Given the description of an element on the screen output the (x, y) to click on. 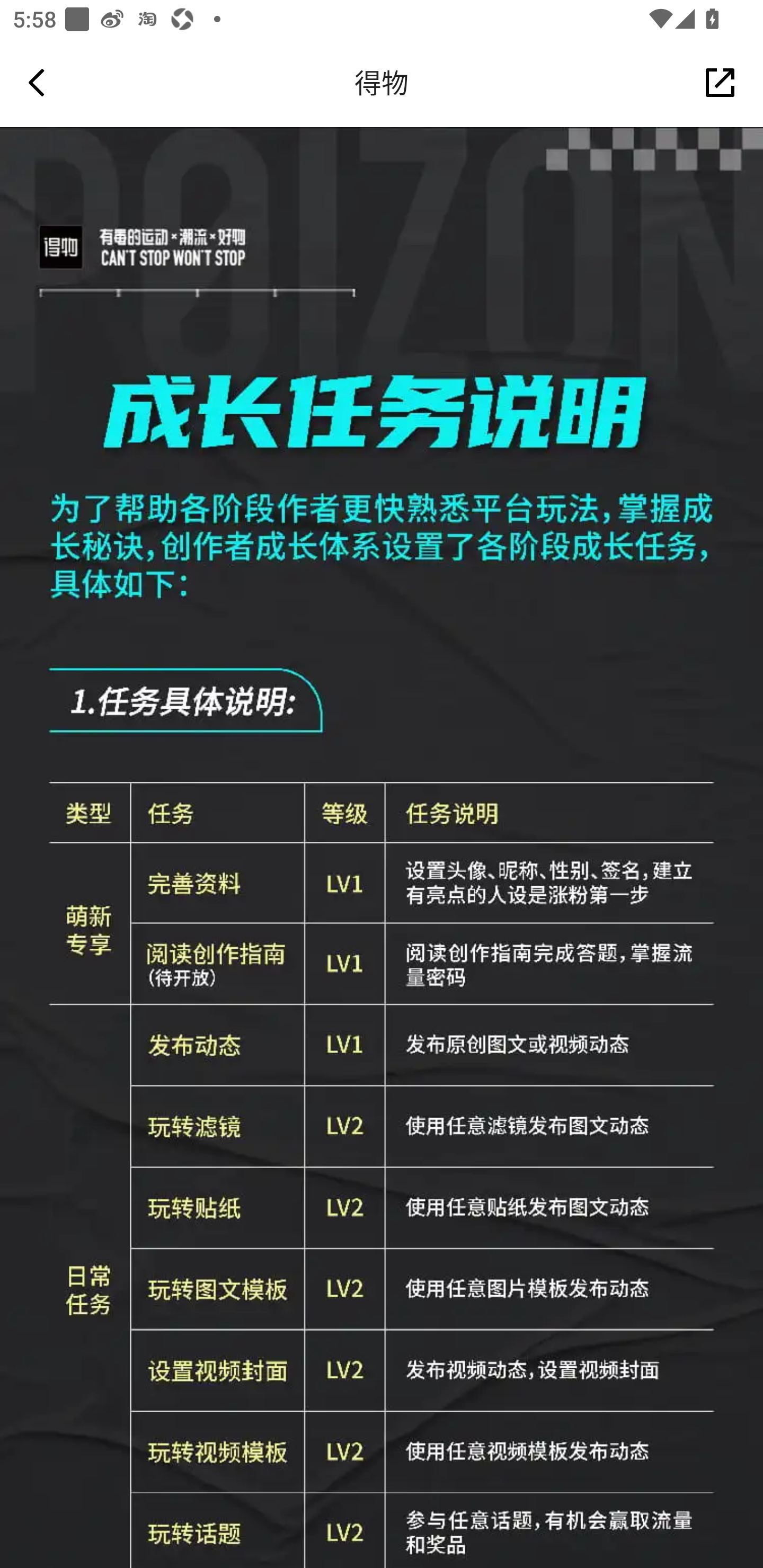
Navigate up (36, 82)
